Given the description of an element on the screen output the (x, y) to click on. 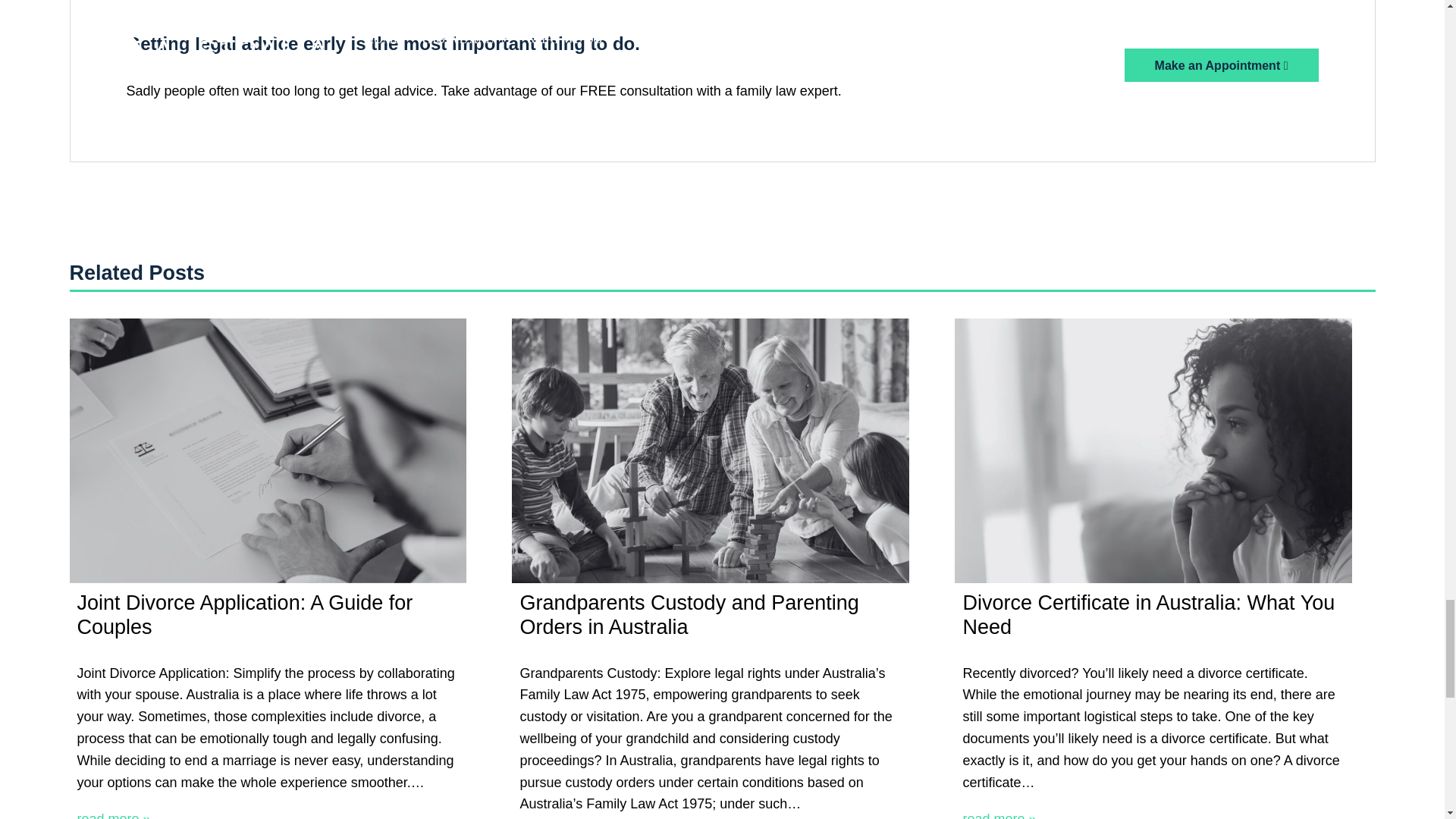
Grandparents Custody and Parenting Orders in Australia (710, 450)
Joint Divorce Application: A Guide for Couples (268, 450)
Divorce Certificate in Australia: What You Need (1153, 450)
